Given the description of an element on the screen output the (x, y) to click on. 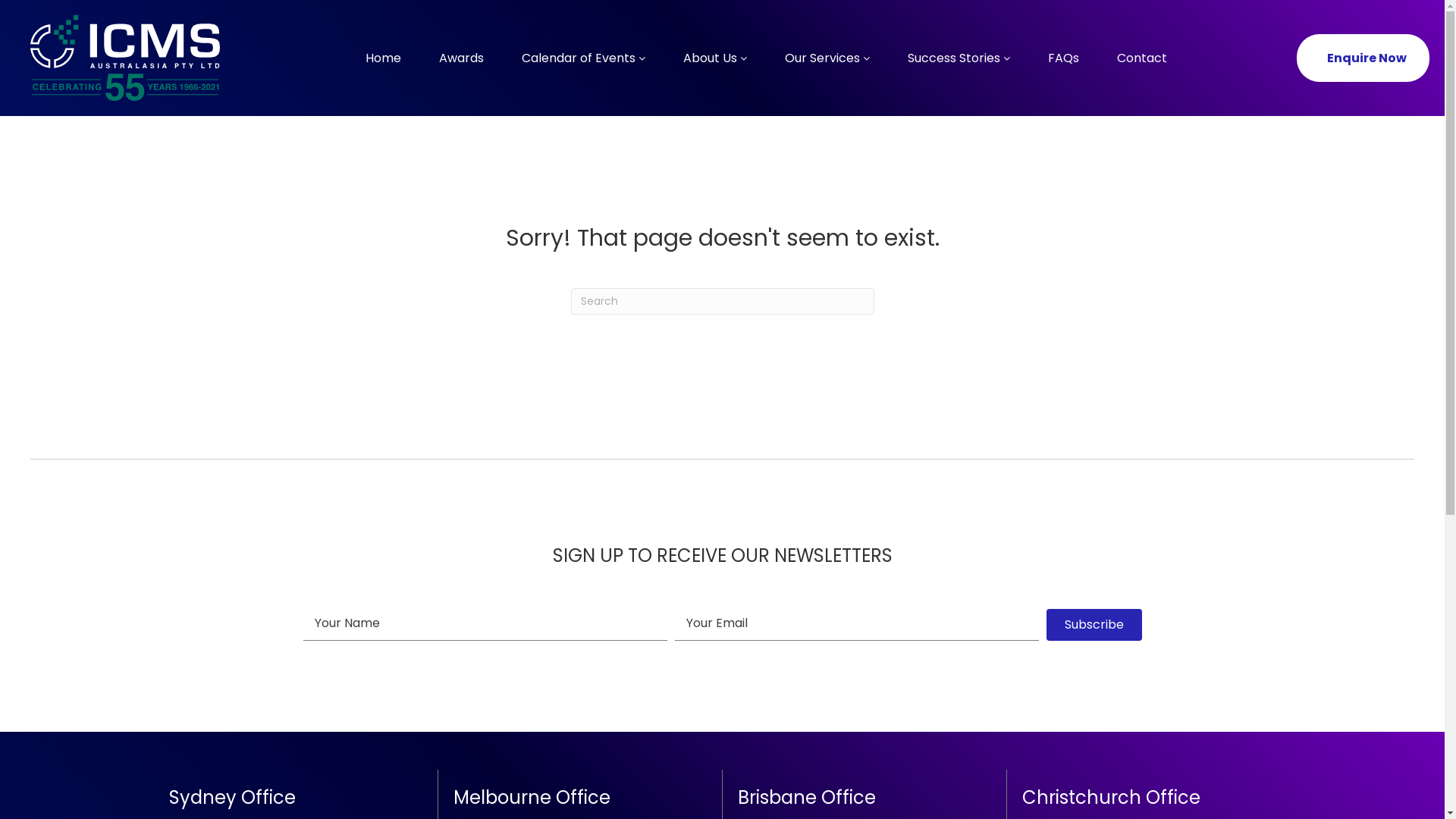
Enquire Now Element type: text (1362, 57)
ICMS Austral 55 yr Logo-white Element type: hover (124, 57)
About Us Element type: text (714, 58)
Success Stories Element type: text (958, 58)
Subscribe Element type: text (1094, 624)
Home Element type: text (382, 58)
Awards Element type: text (461, 58)
Type and press Enter to search. Element type: hover (721, 301)
FAQs Element type: text (1062, 58)
Contact Element type: text (1142, 58)
Our Services Element type: text (826, 58)
Calendar of Events Element type: text (582, 58)
